Given the description of an element on the screen output the (x, y) to click on. 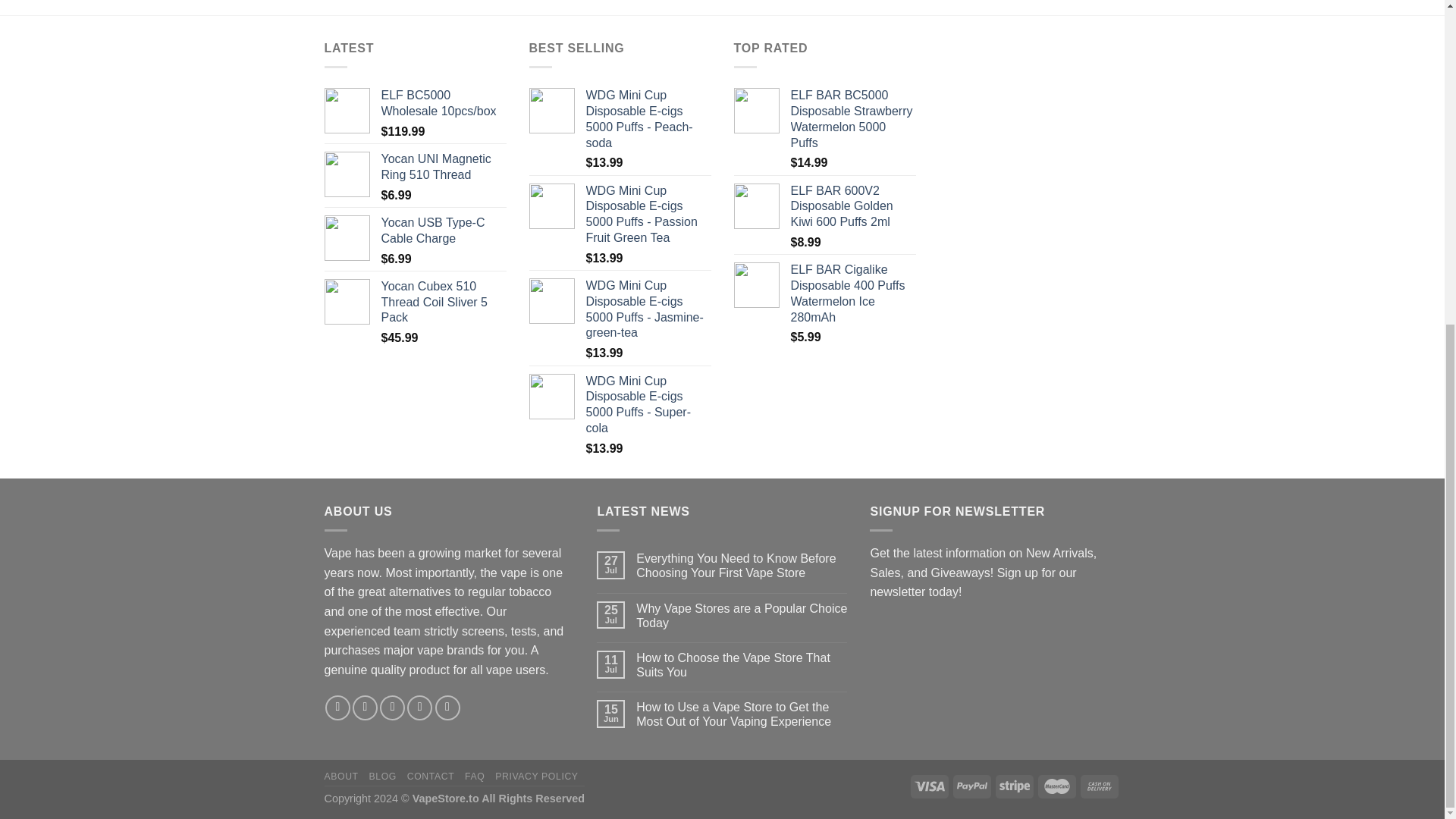
Follow on Instagram (364, 707)
Follow on Pinterest (447, 707)
Send us an email (419, 707)
How to Choose the Vape Store That Suits You (741, 664)
Follow on Facebook (337, 707)
Follow on Twitter (392, 707)
Why Vape Stores are a Popular Choice Today (741, 615)
